Given the description of an element on the screen output the (x, y) to click on. 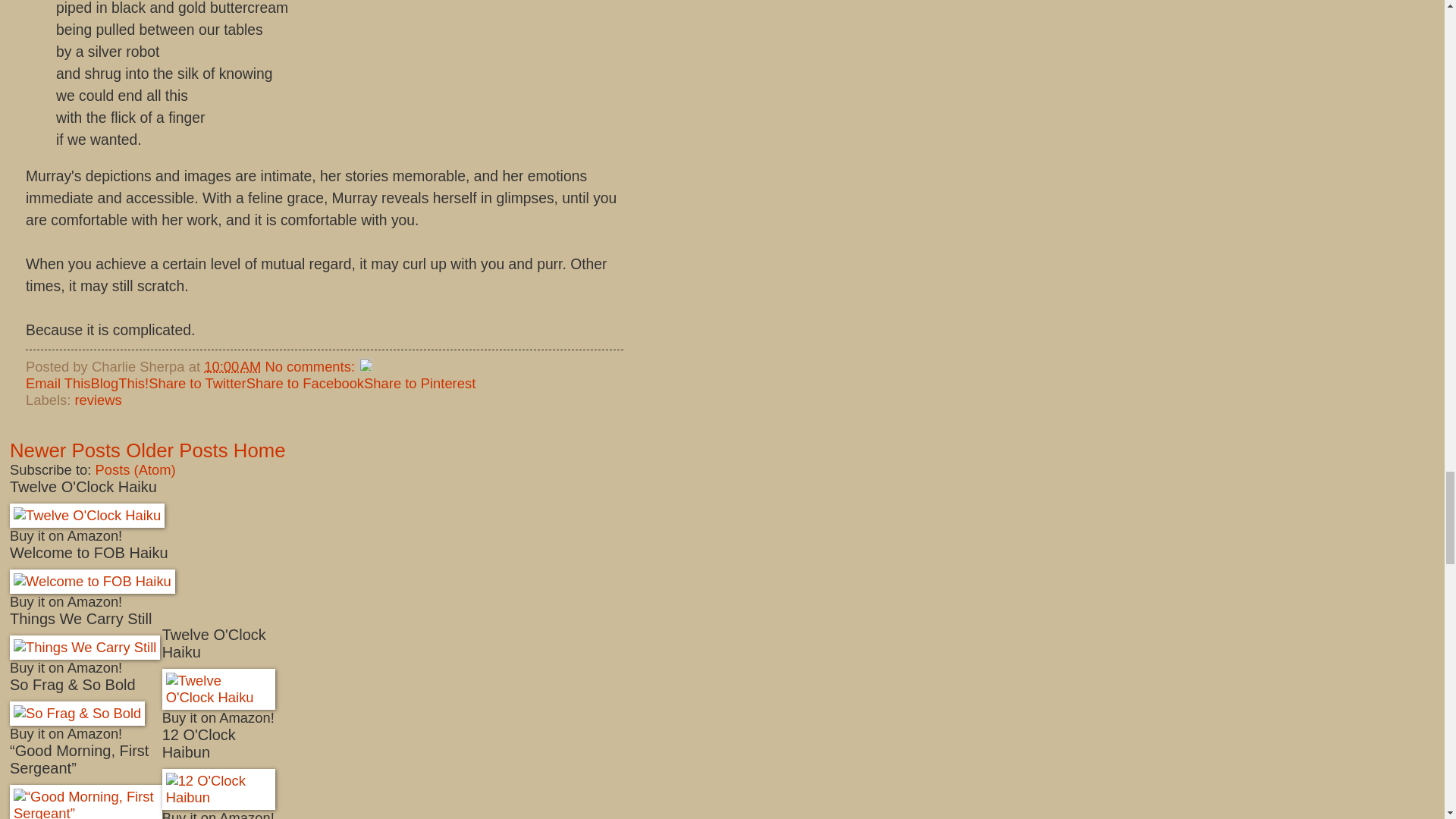
reviews (97, 399)
Email This (58, 383)
permanent link (231, 366)
Older Posts (176, 450)
Newer Posts (65, 450)
Share to Pinterest (420, 383)
Older Posts (176, 450)
Newer Posts (65, 450)
No comments: (311, 366)
